Given the description of an element on the screen output the (x, y) to click on. 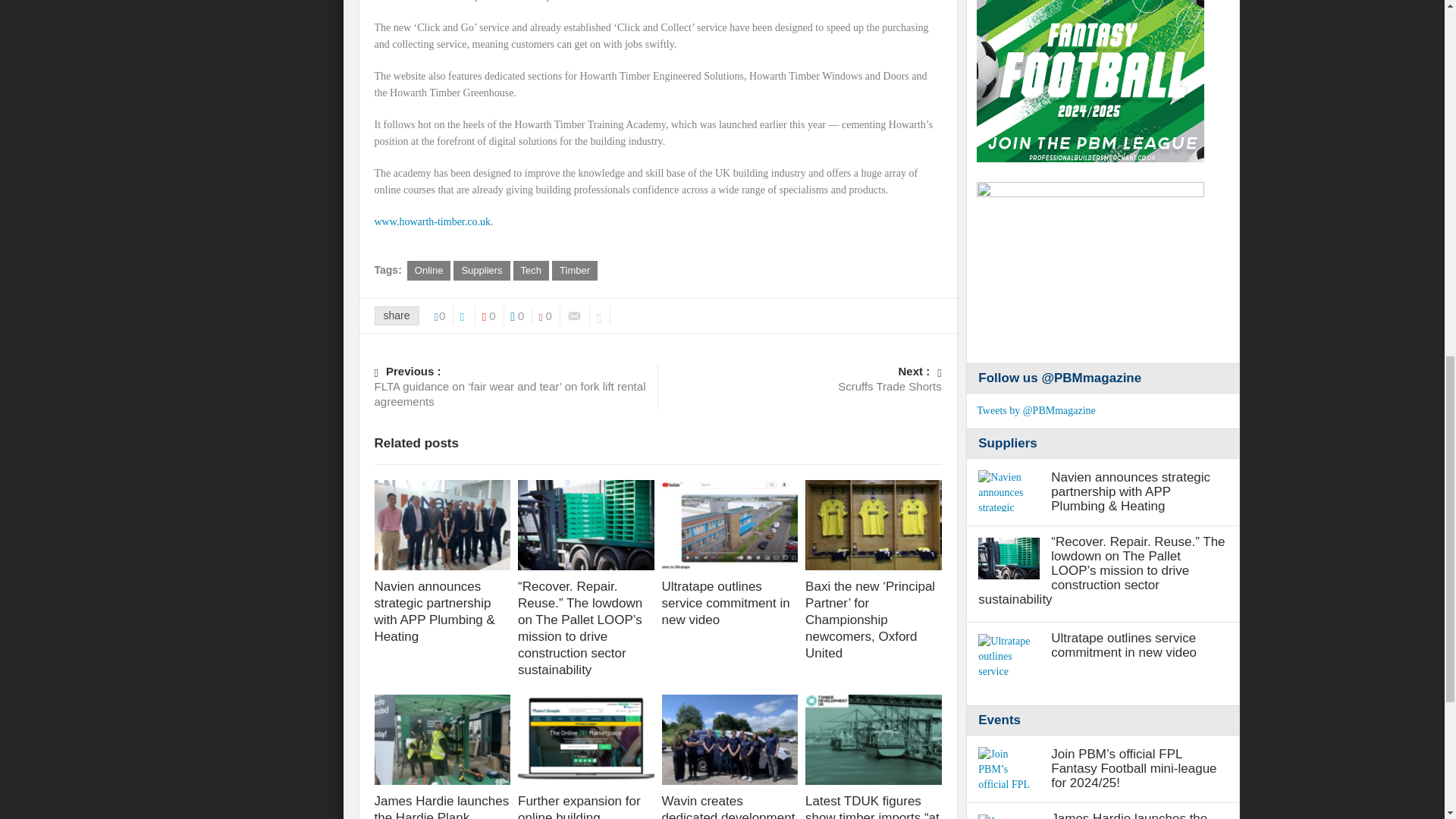
Suppliers (480, 270)
Tech (530, 270)
0 (549, 315)
0 (521, 315)
0 (492, 315)
Timber (573, 270)
0 (443, 315)
Online (429, 270)
www.howarth-timber.co.uk (432, 221)
